Given the description of an element on the screen output the (x, y) to click on. 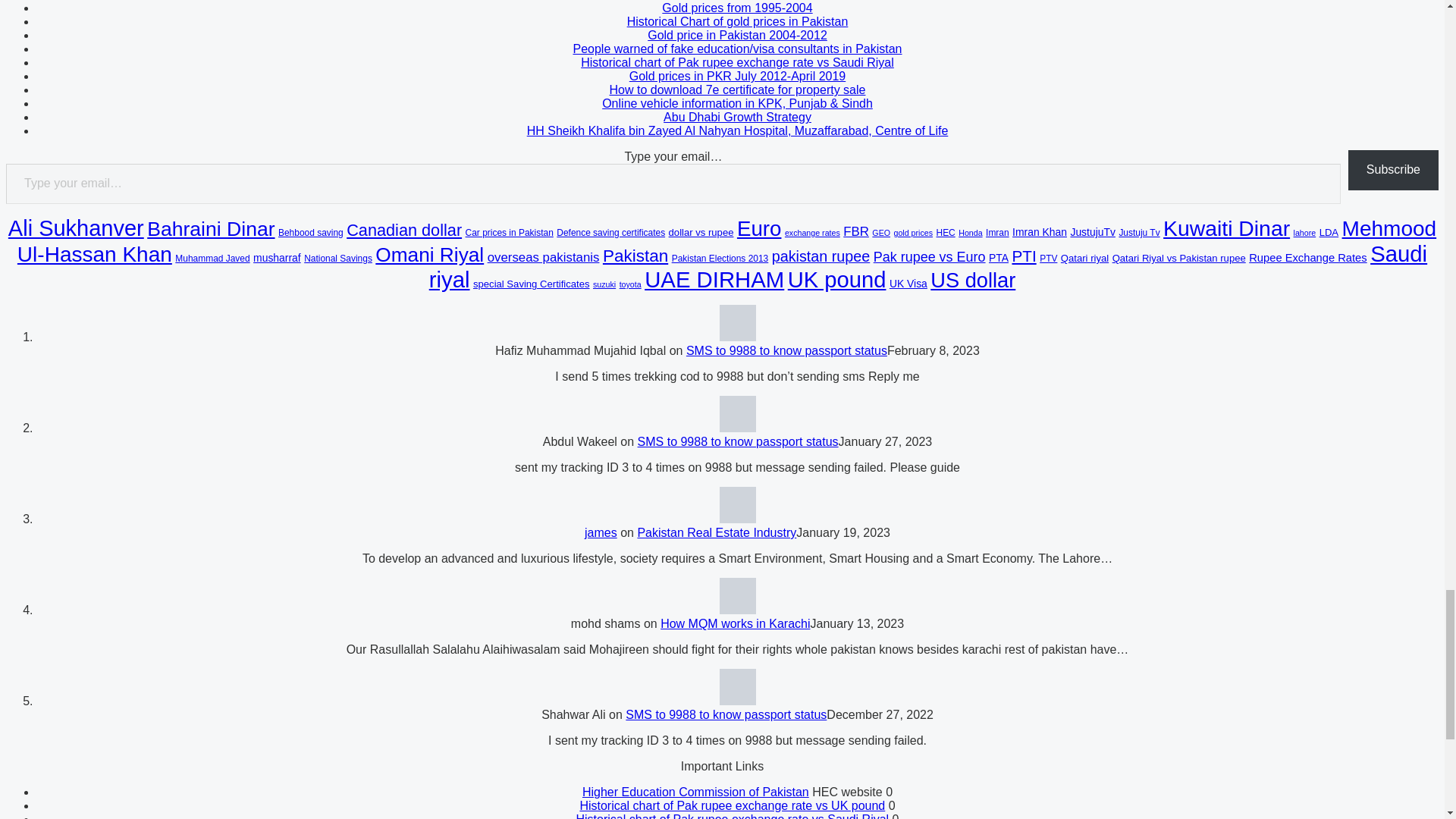
Please fill in this field. (672, 183)
HEC website (695, 791)
